Given the description of an element on the screen output the (x, y) to click on. 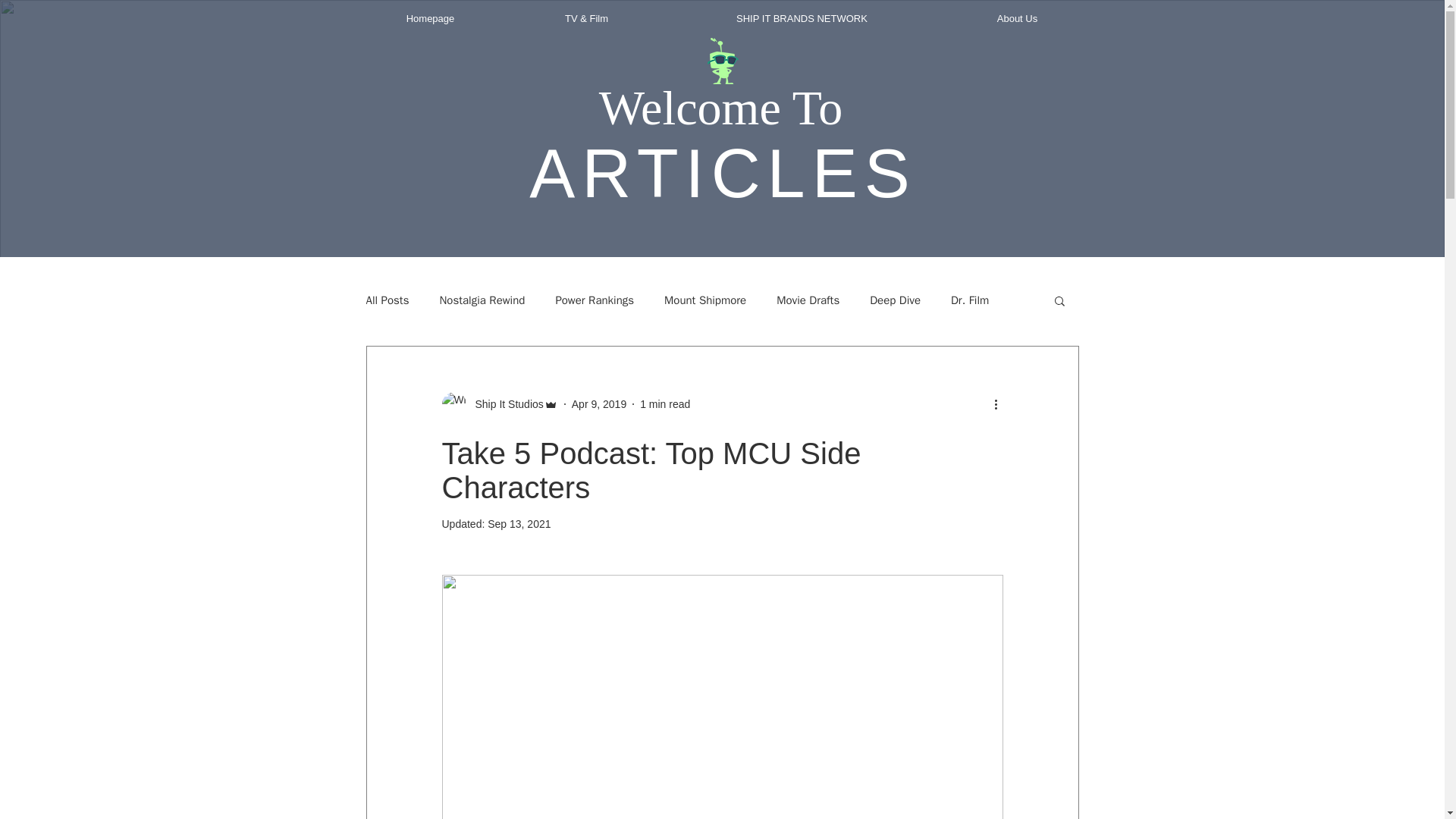
Nostalgia Rewind (481, 299)
1 min read (665, 403)
Power Rankings (593, 299)
Movie Drafts (808, 299)
Mount Shipmore (704, 299)
Sep 13, 2021 (518, 523)
About Us (1016, 18)
Ship It Studios (504, 403)
Homepage (429, 18)
Apr 9, 2019 (599, 403)
Dr. Film (969, 299)
All Posts (387, 299)
Deep Dive (894, 299)
SHIP IT BRANDS NETWORK (801, 18)
Ship It Studios (499, 404)
